Given the description of an element on the screen output the (x, y) to click on. 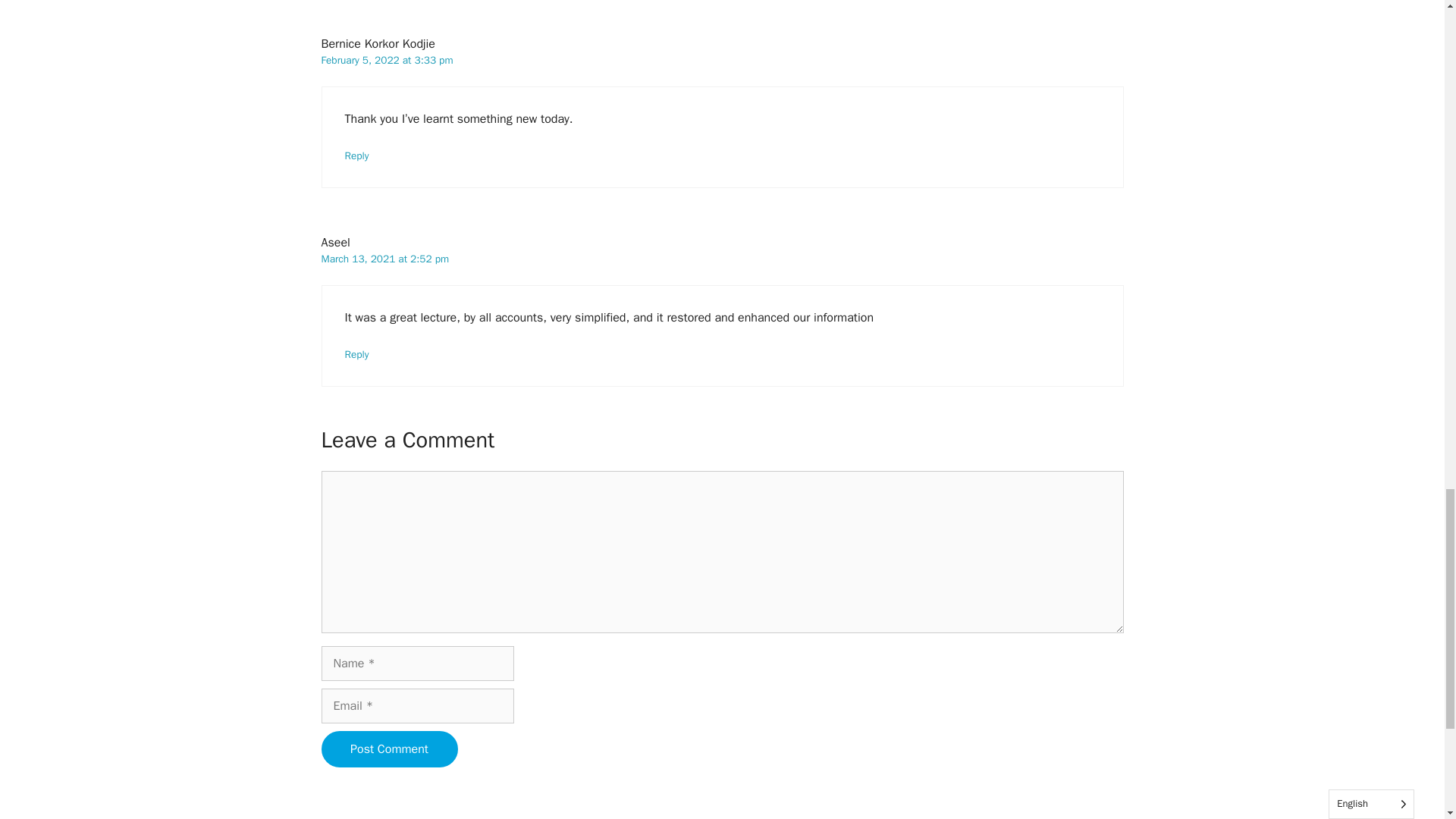
Post Comment (389, 749)
Post Comment (389, 749)
March 13, 2021 at 2:52 pm (385, 258)
February 5, 2022 at 3:33 pm (386, 60)
Reply (355, 354)
Reply (355, 155)
